Given the description of an element on the screen output the (x, y) to click on. 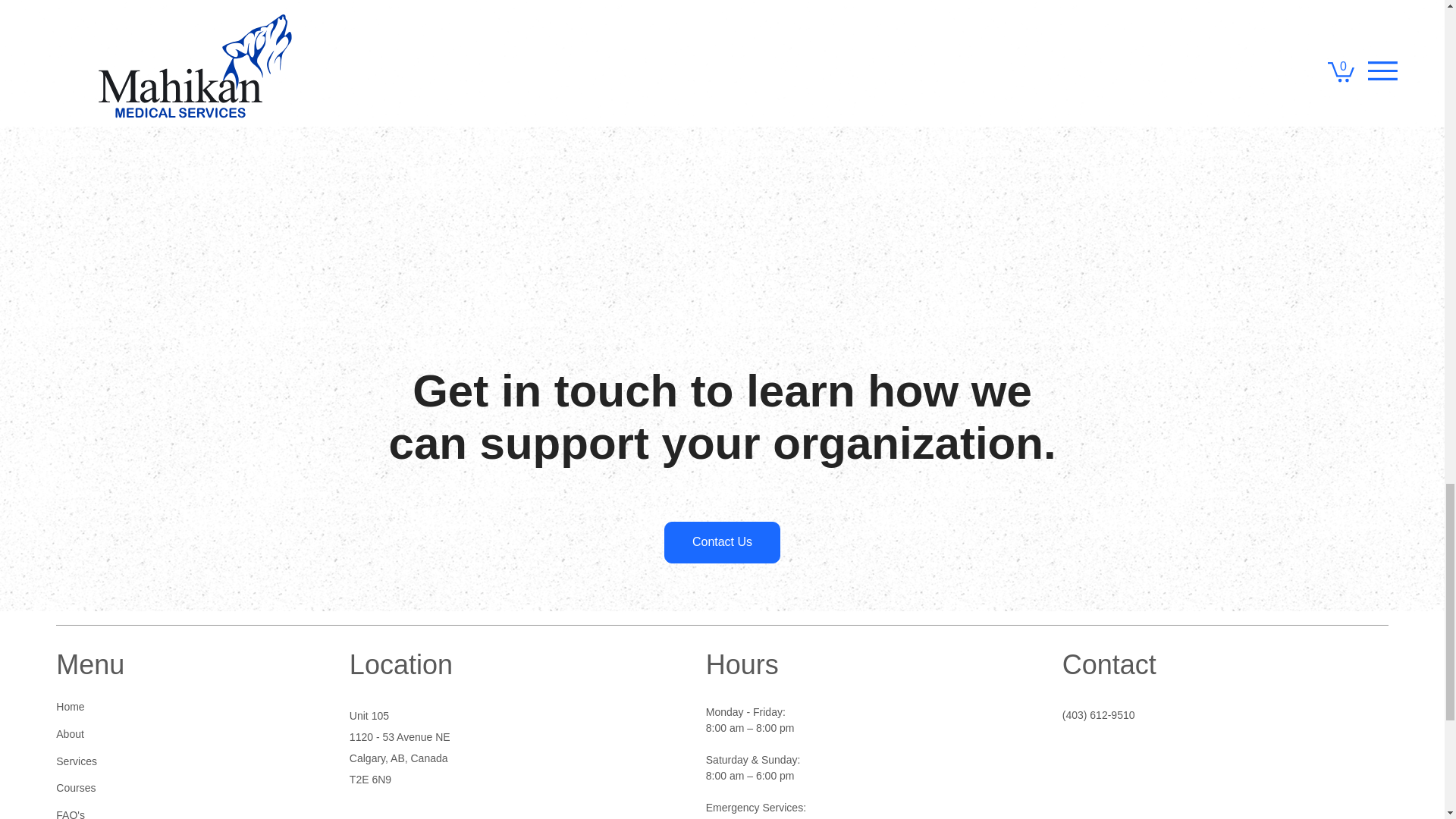
About (172, 734)
Contact Us (720, 542)
Services (172, 761)
FAQ's (172, 810)
Courses (172, 788)
Home (172, 707)
